Given the description of an element on the screen output the (x, y) to click on. 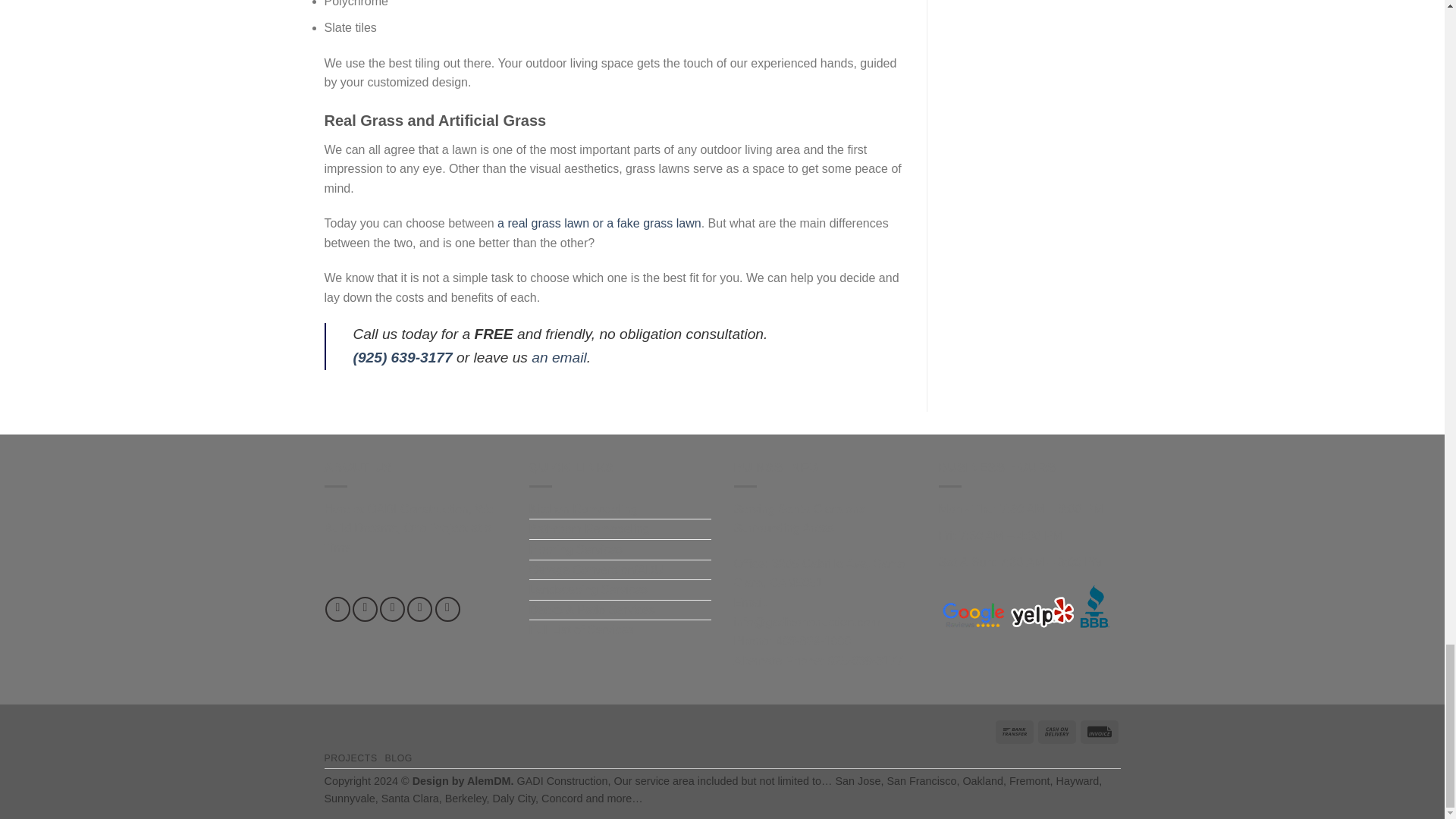
Follow on Twitter (392, 609)
Follow on Facebook (337, 609)
an email (558, 357)
Follow on Instagram (364, 609)
a real grass lawn or a fake grass lawn (599, 223)
Follow on Pinterest (447, 609)
Send us an email (419, 609)
